Given the description of an element on the screen output the (x, y) to click on. 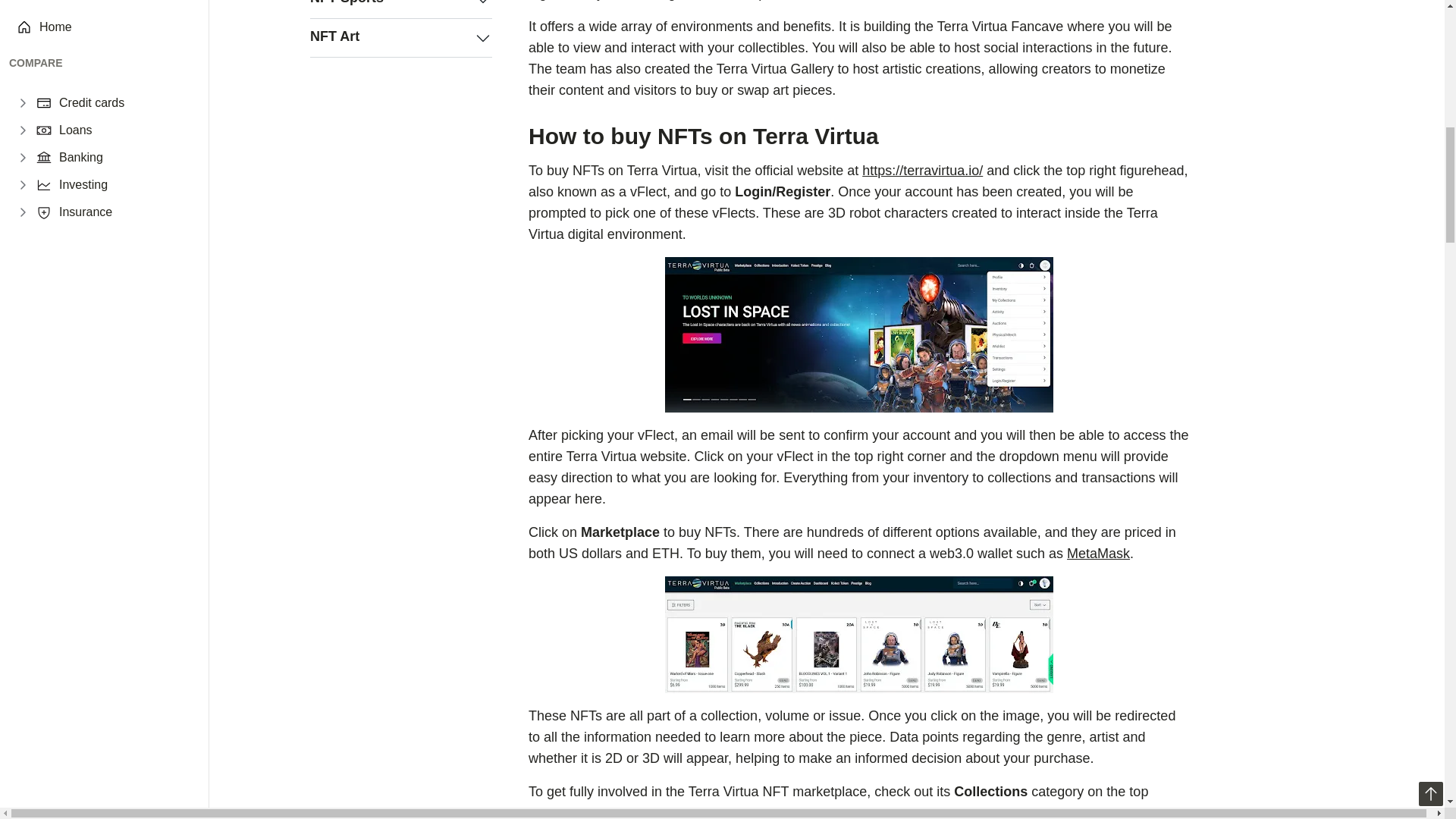
Image: Finder (858, 334)
Image: Finder (858, 634)
